Given the description of an element on the screen output the (x, y) to click on. 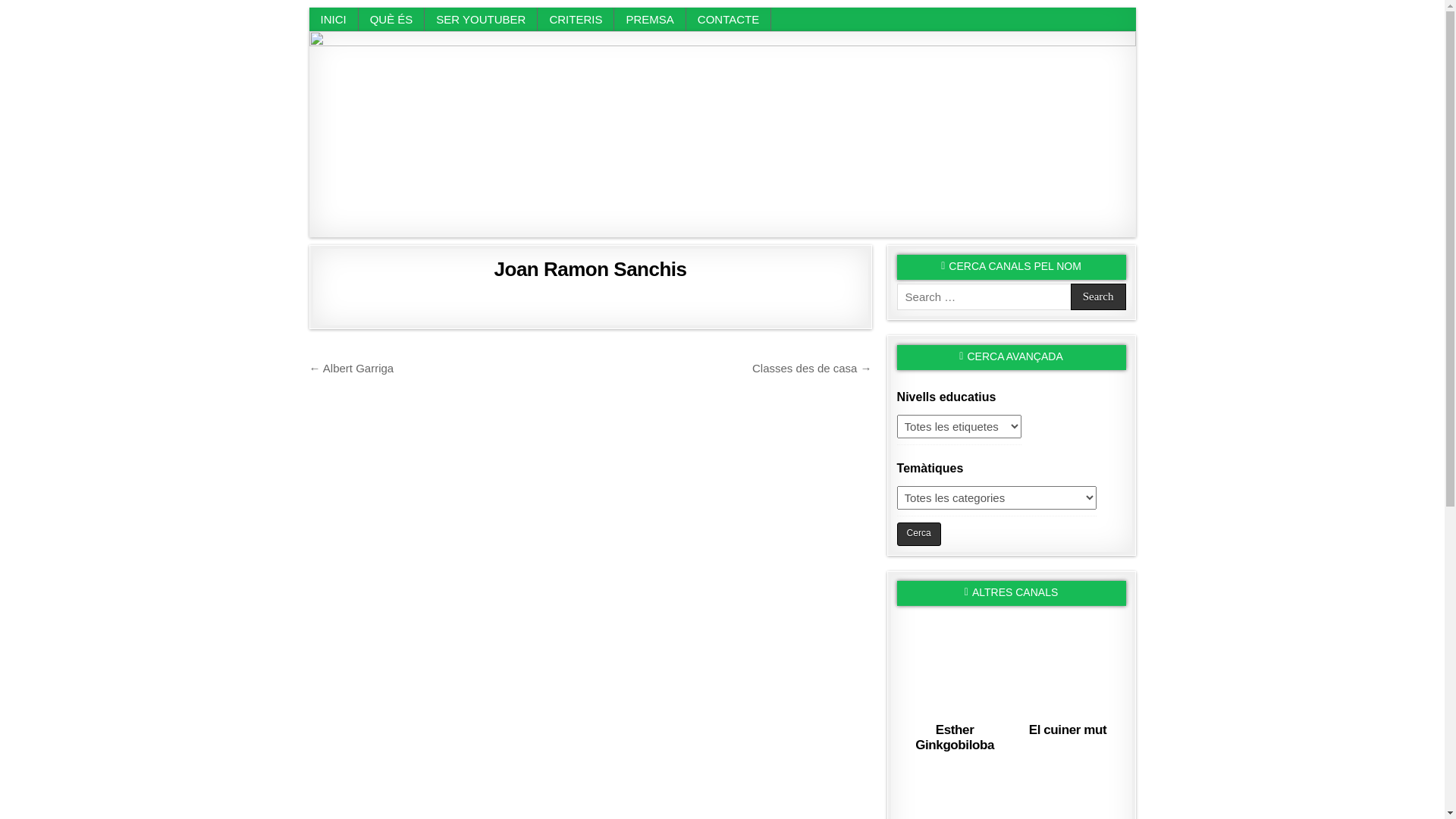
CONTACTE Element type: text (728, 19)
Permanent Link to Esther Ginkgobiloba Element type: hover (954, 663)
Joan Ramon Sanchis Element type: text (590, 268)
El cuiner mut Element type: text (1068, 729)
SER YOUTUBER Element type: text (480, 19)
INICI Element type: text (333, 19)
Esther Ginkgobiloba Element type: text (954, 737)
CRITERIS Element type: text (575, 19)
PREMSA Element type: text (649, 19)
Search Element type: text (1098, 296)
Cerca Element type: text (919, 534)
Permanent Link to El cuiner mut Element type: hover (1067, 663)
